Given the description of an element on the screen output the (x, y) to click on. 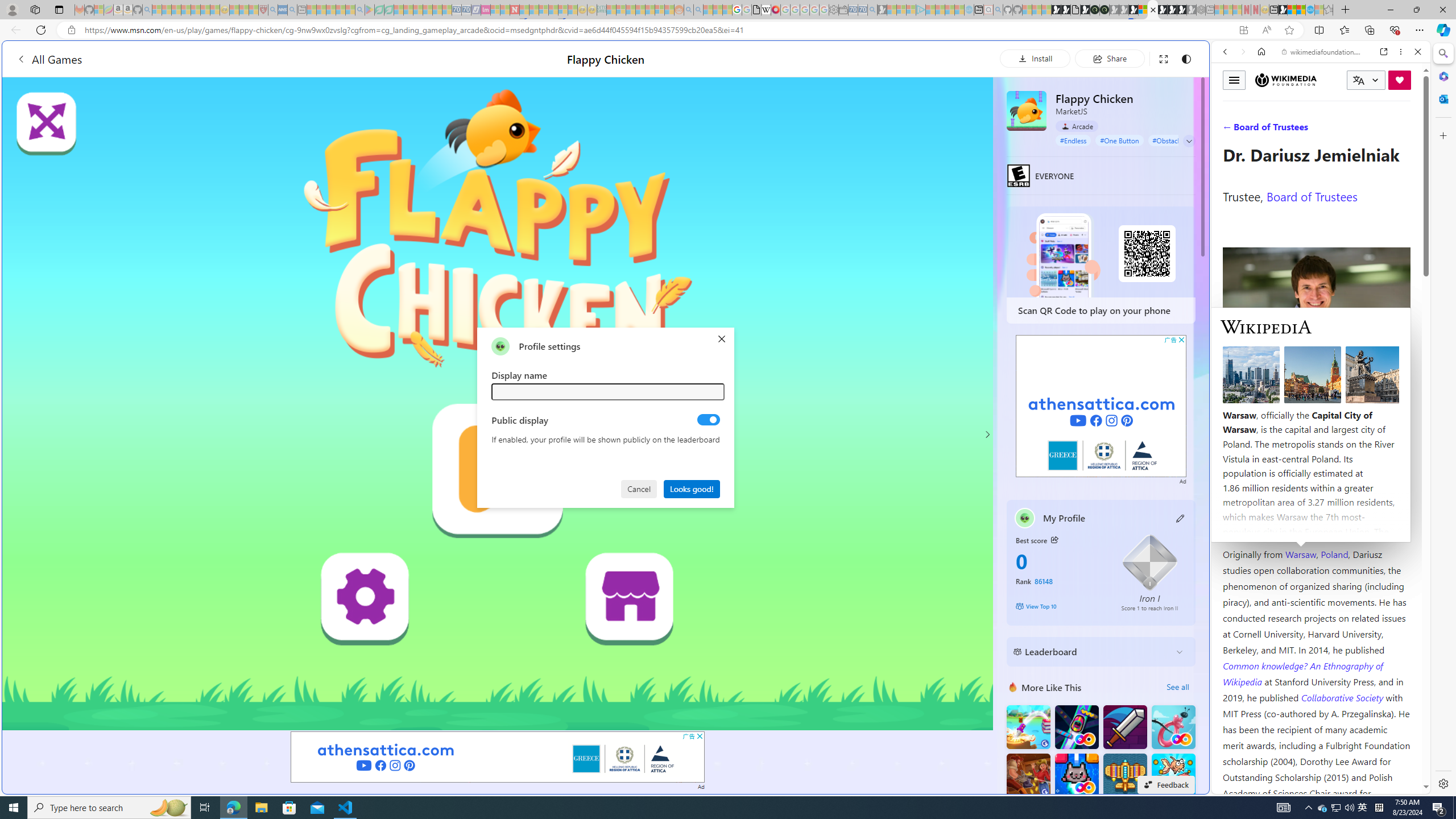
#Obstacle Course (1178, 140)
Forward (1242, 51)
Tabs you've opened (885, 151)
Favorites - Sleeping (1328, 9)
Advertisement (1101, 405)
Search Filter, VIDEOS (1300, 129)
Flappy Chicken (1026, 110)
Balloon FRVR (1173, 726)
